Given the description of an element on the screen output the (x, y) to click on. 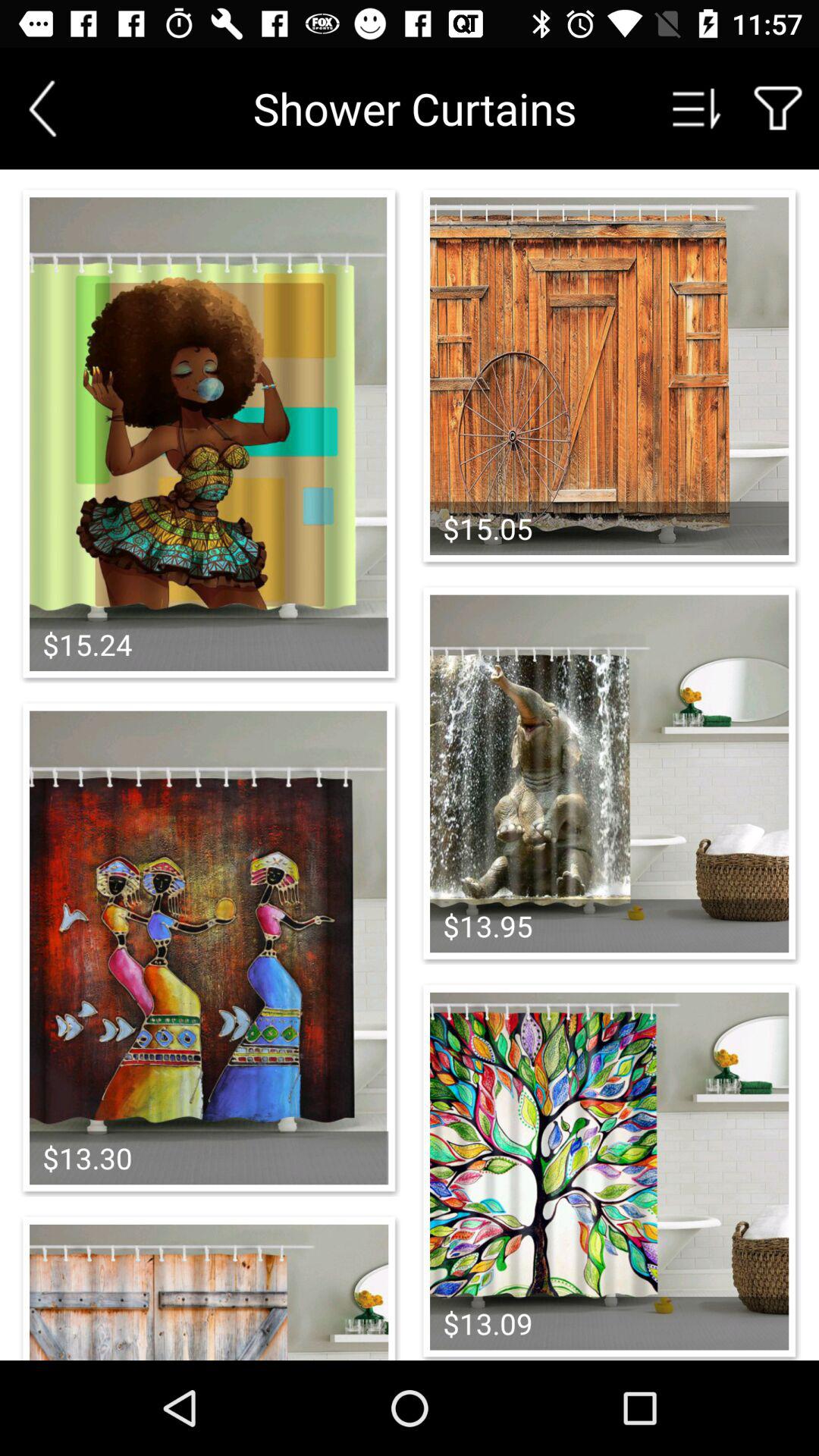
sort options (696, 108)
